Given the description of an element on the screen output the (x, y) to click on. 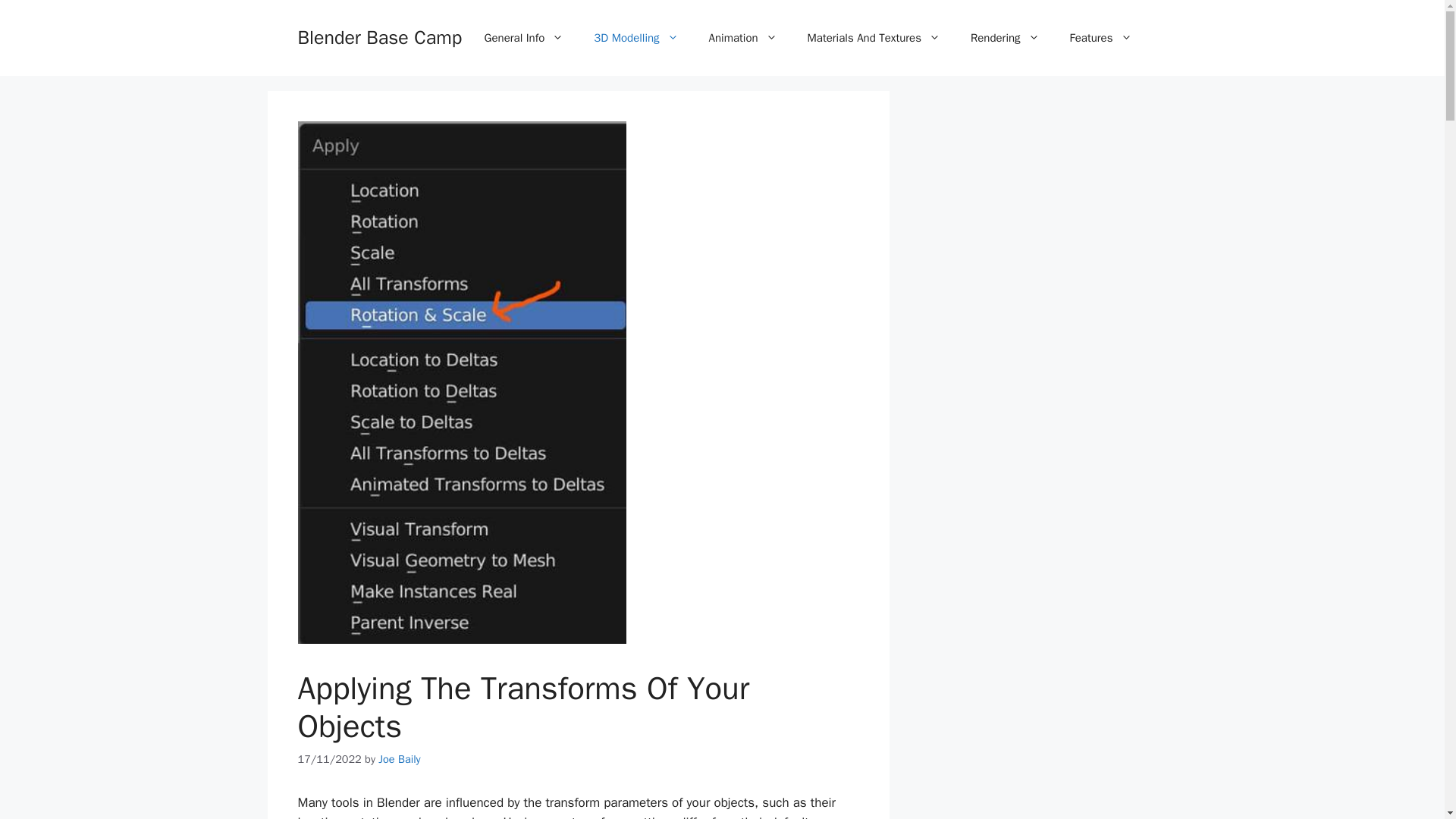
View all posts by Joe Baily (399, 758)
Animation (743, 37)
3D Modelling (635, 37)
General Info (523, 37)
Blender Base Camp (379, 37)
Materials And Textures (873, 37)
